Given the description of an element on the screen output the (x, y) to click on. 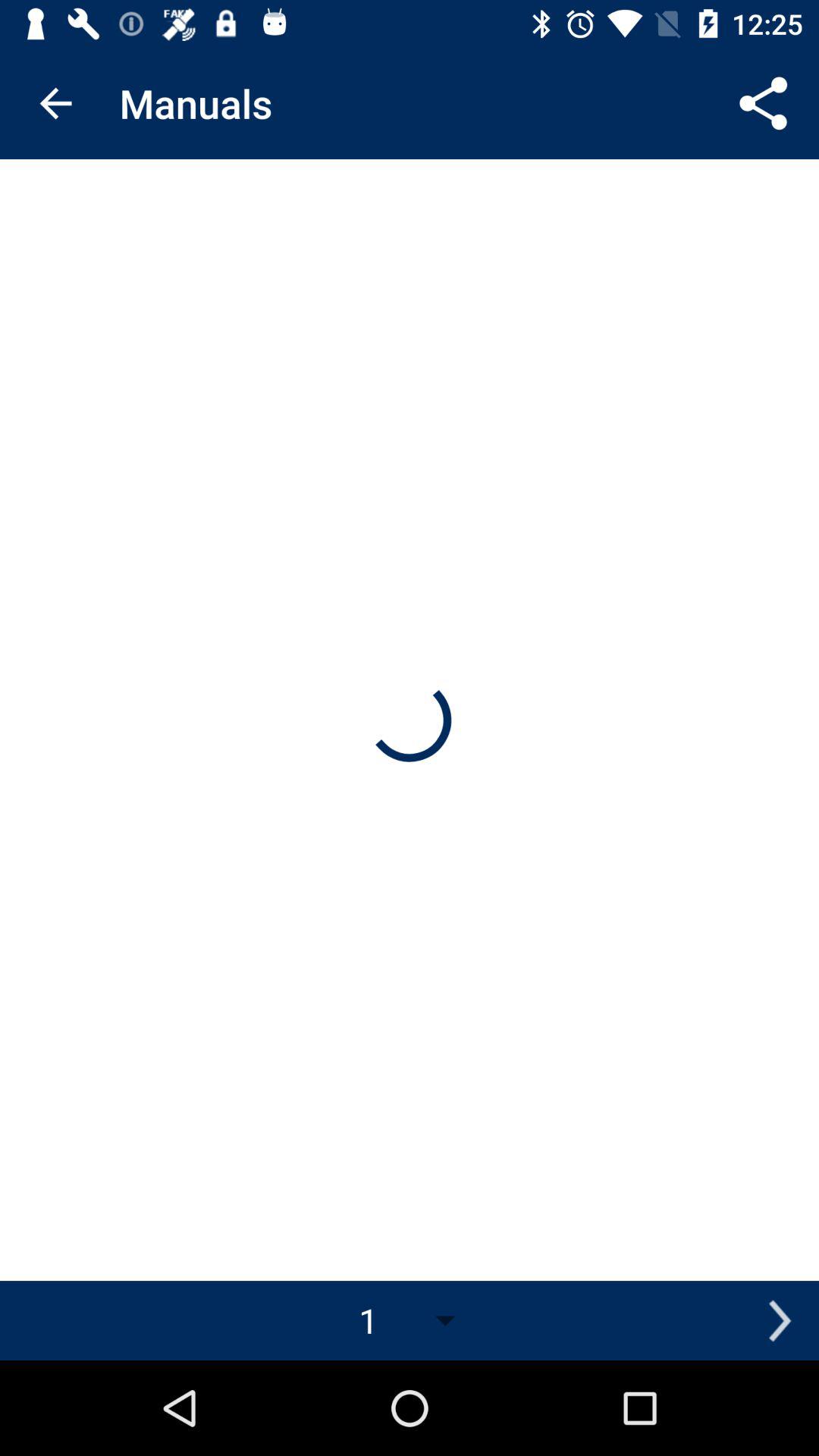
next page (779, 1320)
